Given the description of an element on the screen output the (x, y) to click on. 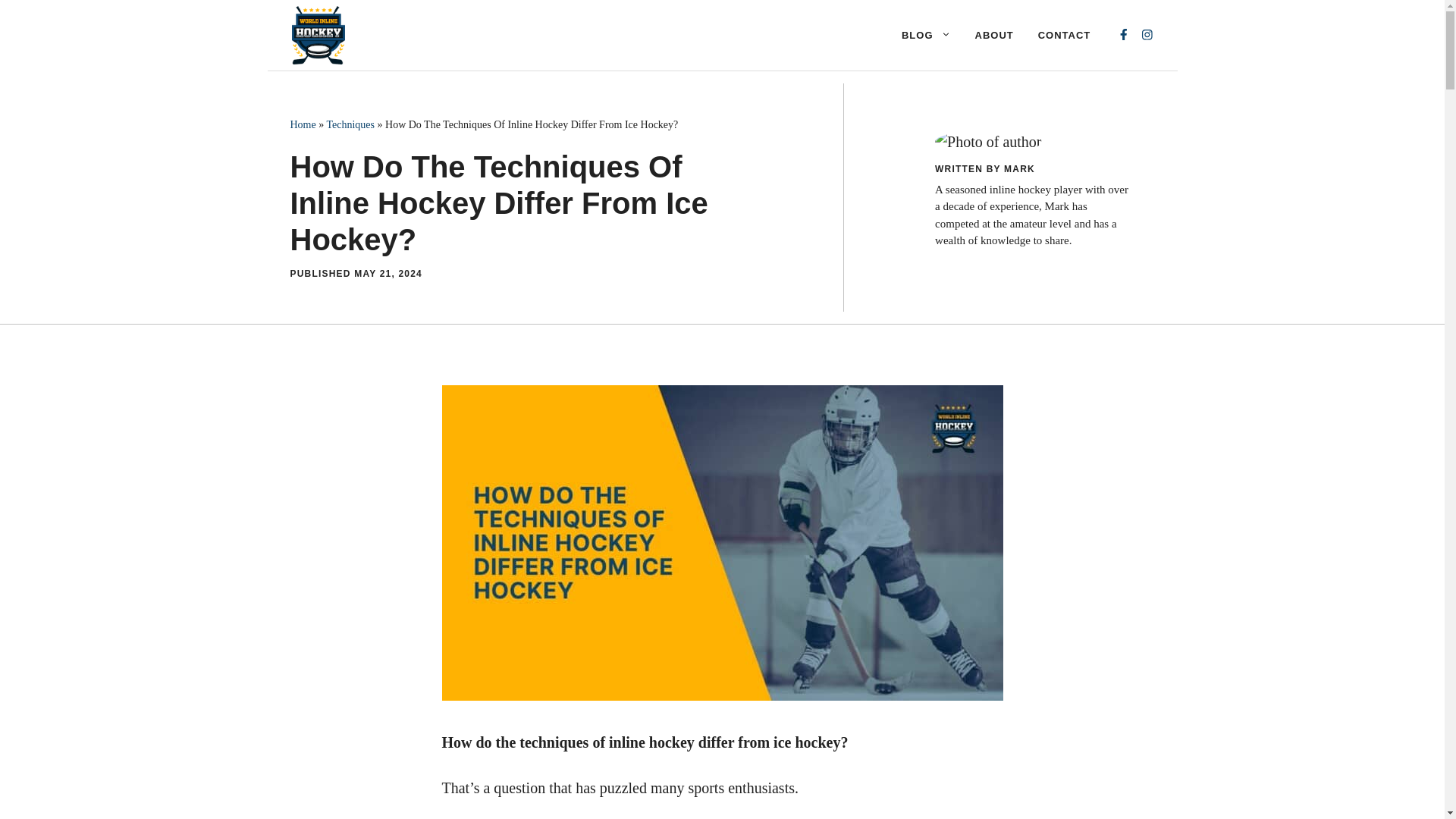
BLOG (925, 34)
Home (302, 124)
ABOUT (994, 34)
CONTACT (1064, 34)
Techniques (350, 124)
